Given the description of an element on the screen output the (x, y) to click on. 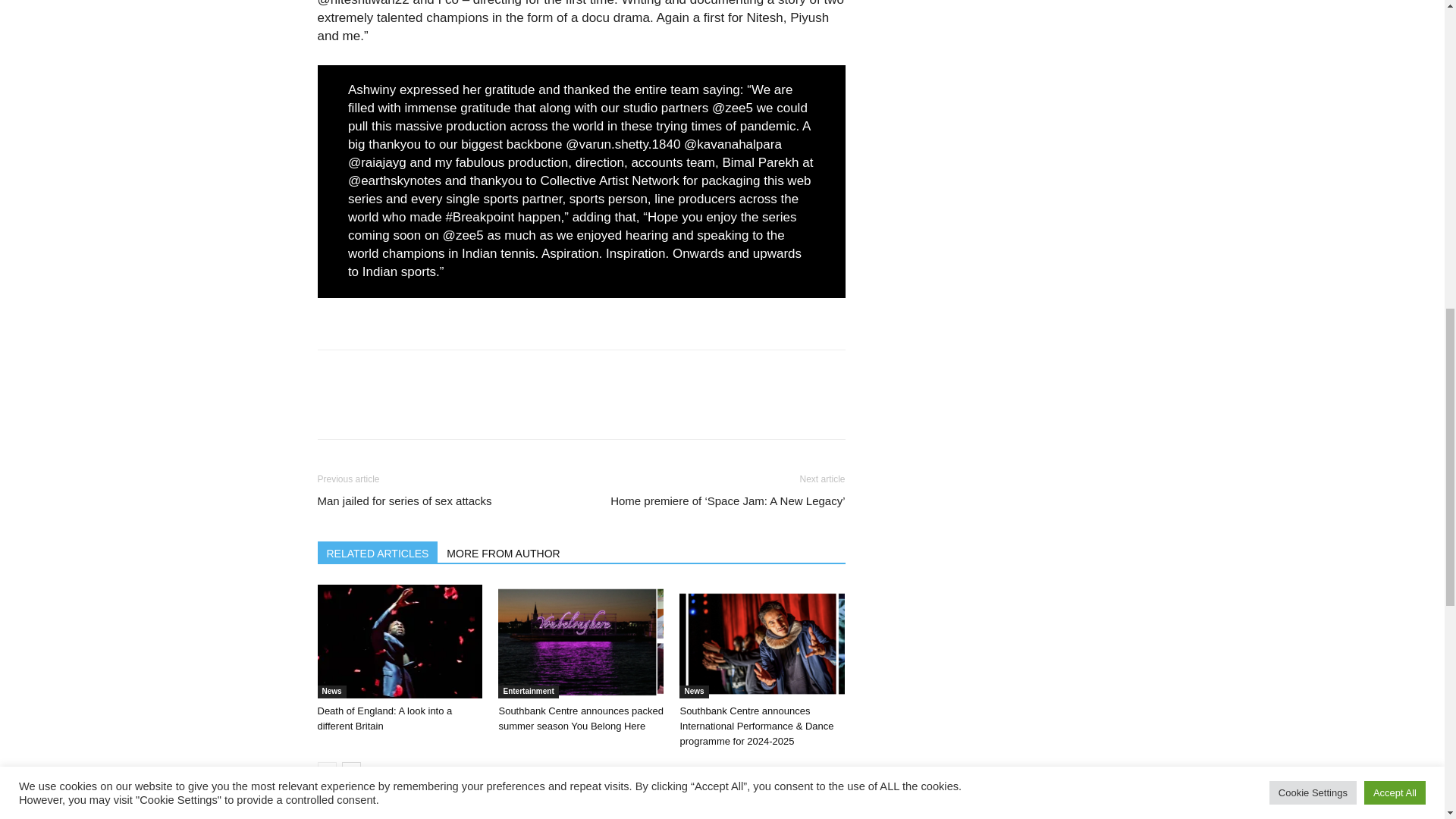
Death of England: A look into a different Britain (384, 718)
Death of England: A look into a different Britain (399, 641)
